Given the description of an element on the screen output the (x, y) to click on. 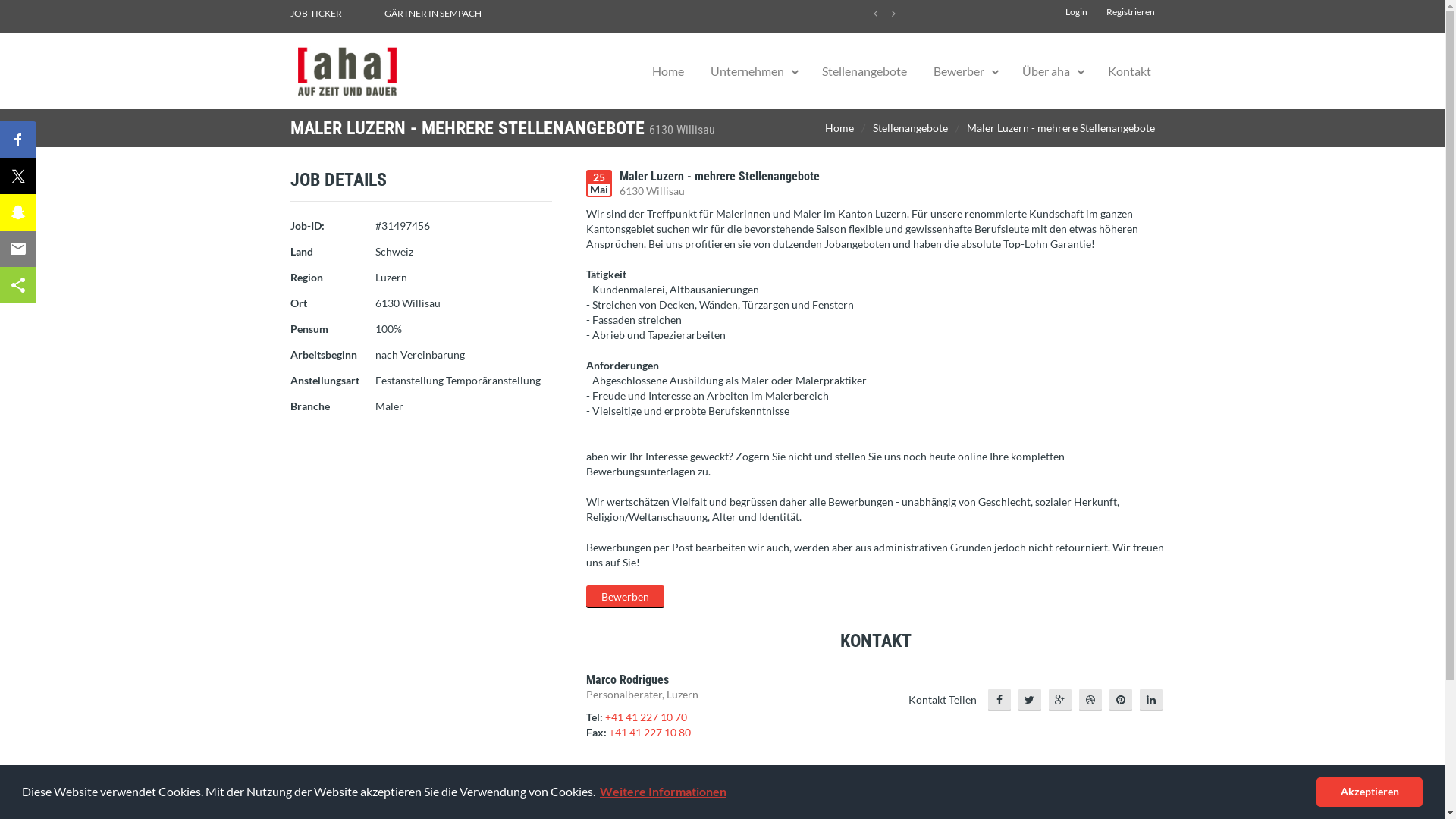
Weitere Informationen Element type: text (662, 791)
Stellenangebote Element type: text (863, 71)
Stellenangebote Element type: text (909, 127)
Bewerben Element type: text (624, 596)
Maler Luzern - mehrere Stellenangebote Element type: text (1060, 127)
Registrieren Element type: text (1129, 11)
HEIZUNGSMONTEUR/IN IN BUCHRAIN Element type: text (455, 12)
Unternehmen Element type: text (746, 71)
Marco Rodrigues Element type: text (626, 679)
+41 41 227 10 70 Element type: text (646, 716)
Kontakt Element type: text (1129, 71)
Login Element type: text (1075, 11)
Home Element type: text (667, 71)
Maler Luzern - mehrere Stellenangebote Element type: text (718, 176)
Akzeptieren Element type: text (1369, 791)
Bewerber Element type: text (958, 71)
+41 41 227 10 80 Element type: text (649, 731)
Home Element type: text (839, 127)
